Given the description of an element on the screen output the (x, y) to click on. 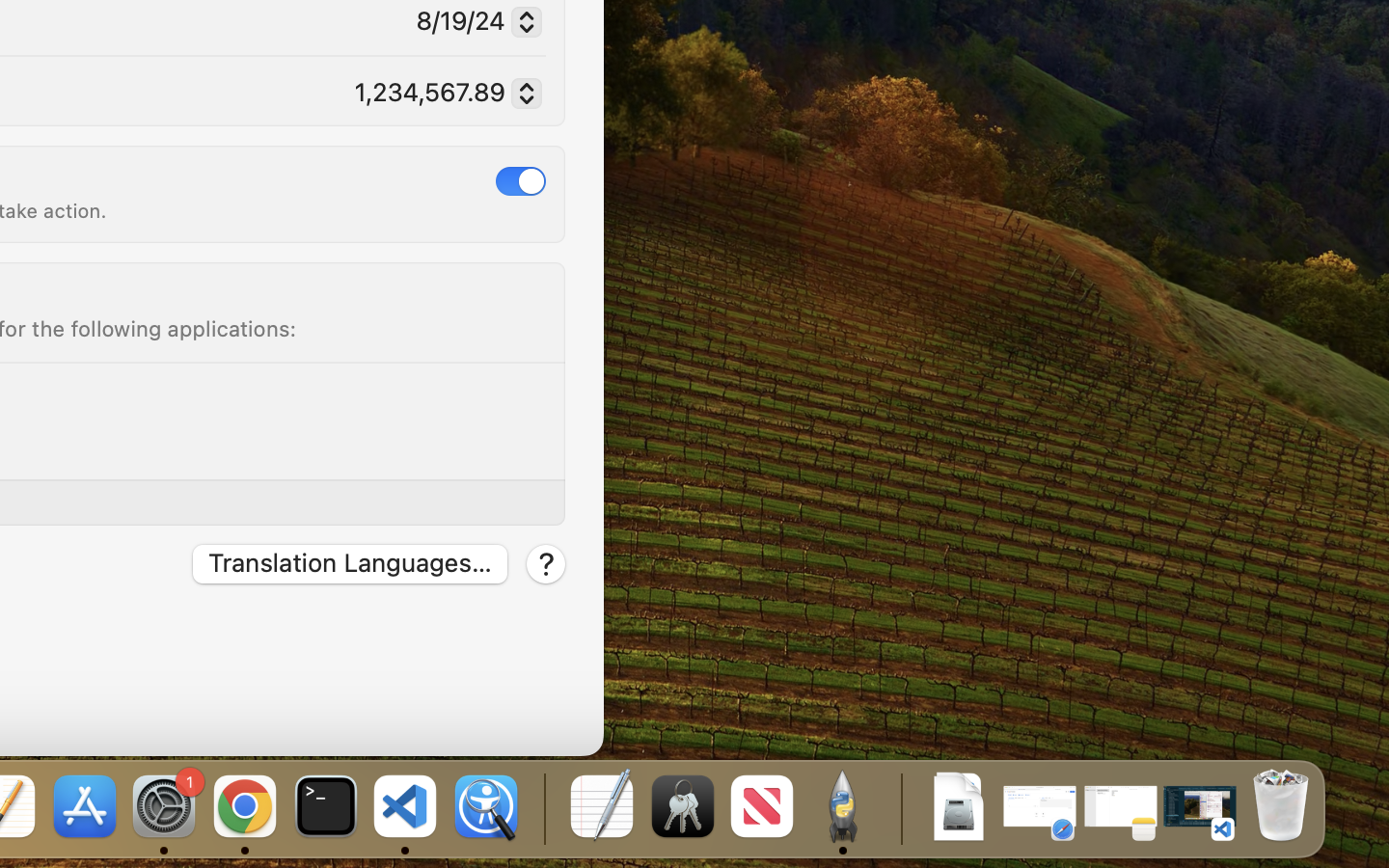
0.4285714328289032 Element type: AXDockItem (541, 807)
8/19/24 Element type: AXPopUpButton (470, 24)
1,234,567.89 Element type: AXPopUpButton (439, 95)
1 Element type: AXCheckBox (520, 179)
